Given the description of an element on the screen output the (x, y) to click on. 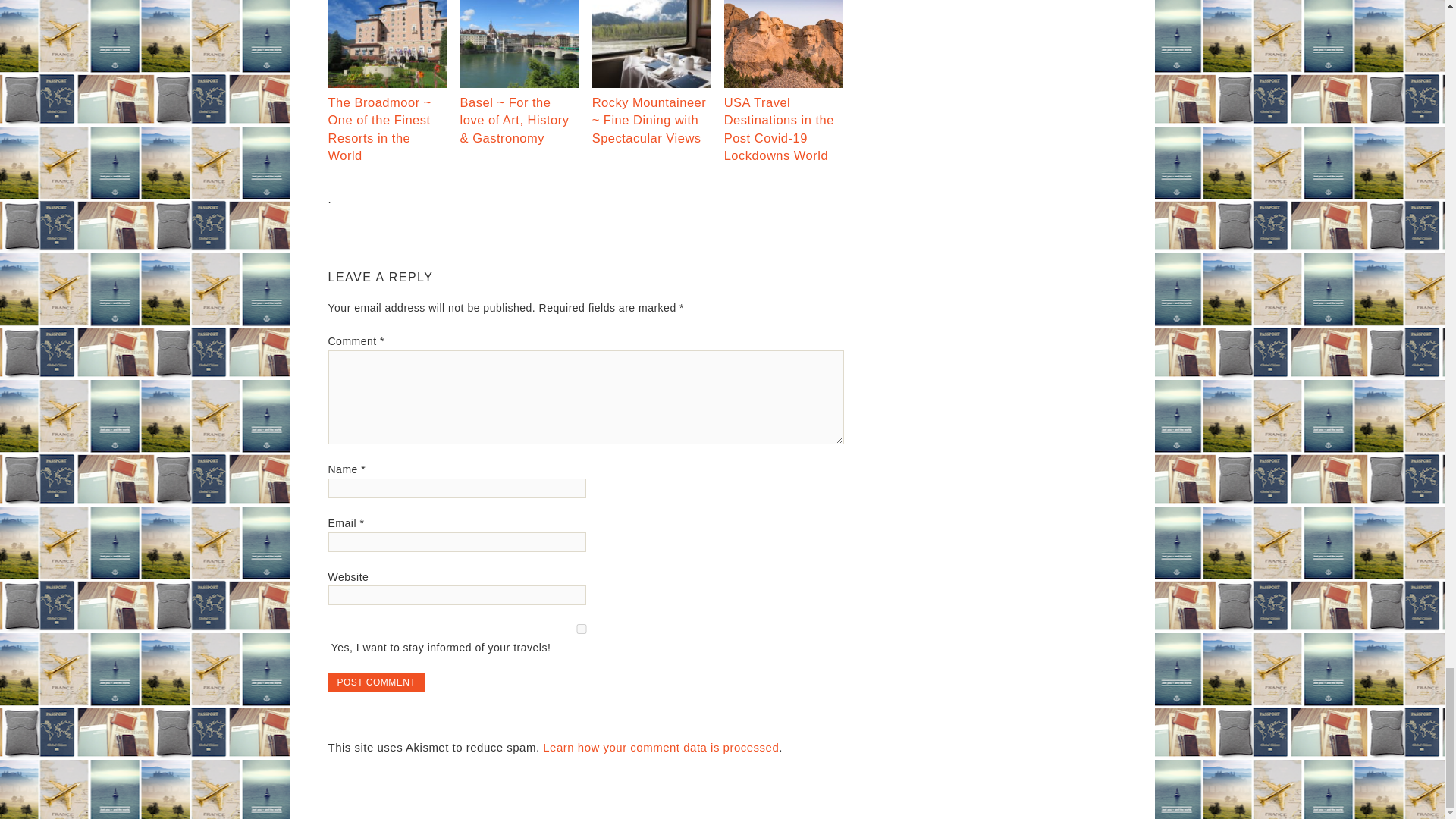
Post Comment (376, 682)
1 (580, 628)
